Given the description of an element on the screen output the (x, y) to click on. 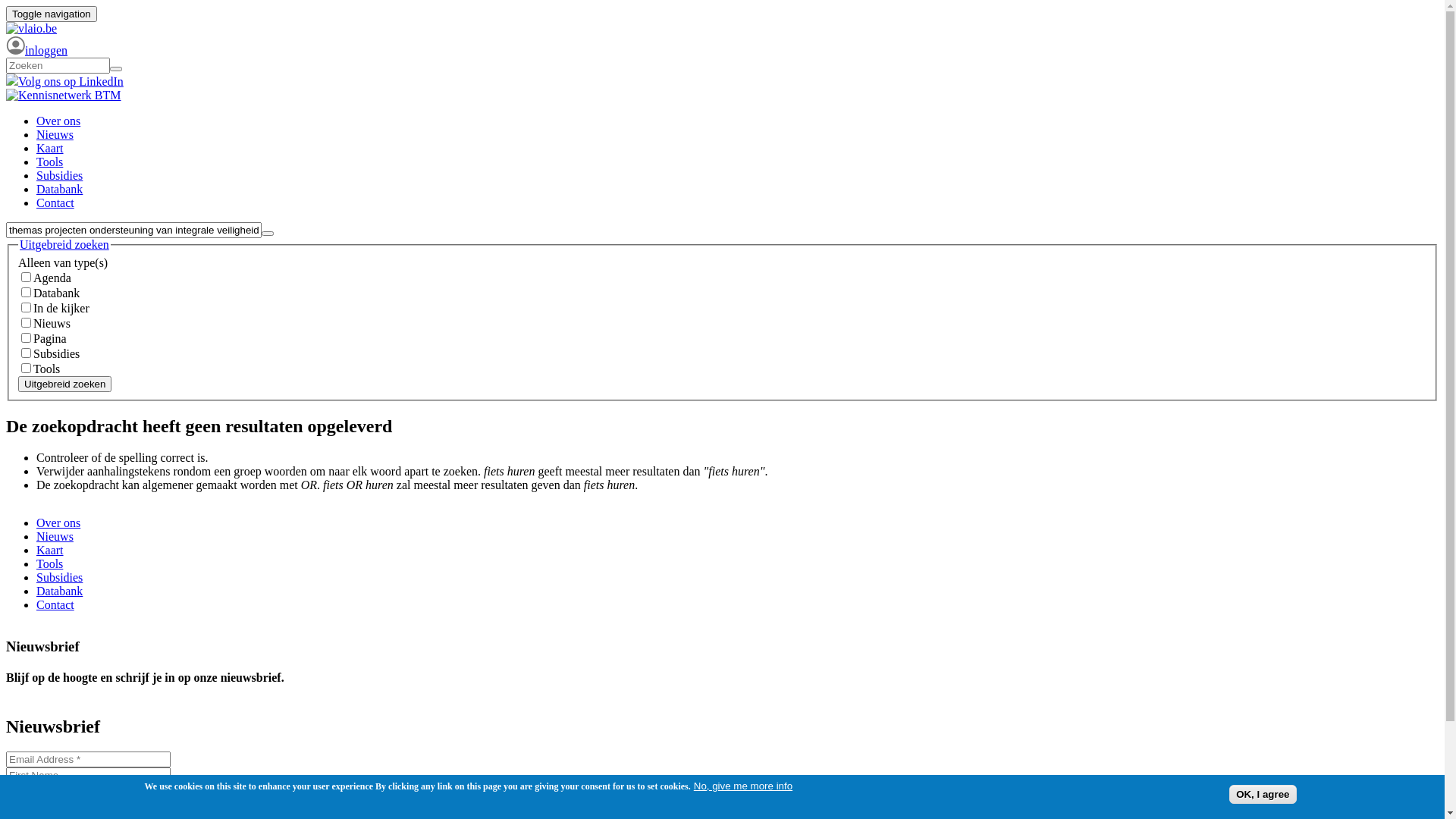
Contact Element type: text (55, 202)
Subsidies Element type: text (59, 577)
Nieuws Element type: text (54, 536)
Nieuws Element type: text (54, 134)
No, give me more info Element type: text (742, 785)
OK, I agree Element type: text (1262, 793)
Overslaan en naar de inhoud gaan Element type: text (88, 6)
Tools Element type: text (49, 563)
Over ons Element type: text (58, 120)
Volg ons op LinkedIn Element type: text (64, 81)
Uitgebreid zoeken Element type: text (64, 384)
inloggen Element type: text (36, 49)
Over ons Element type: text (58, 522)
Kaart Element type: text (49, 147)
Kaart Element type: text (49, 549)
Tools Element type: text (49, 161)
Contact Element type: text (55, 604)
Verbergen
Uitgebreid zoeken Element type: text (64, 244)
Subsidies Element type: text (59, 175)
Inschrijven Element type: text (36, 807)
Zoeken Element type: text (28, 240)
Toggle navigation Element type: text (51, 13)
Geef de woorden op waarnaar u wilt zoeken. Element type: hover (57, 65)
Databank Element type: text (59, 188)
Home Element type: hover (63, 94)
Zoeken Element type: text (28, 75)
Databank Element type: text (59, 590)
